Given the description of an element on the screen output the (x, y) to click on. 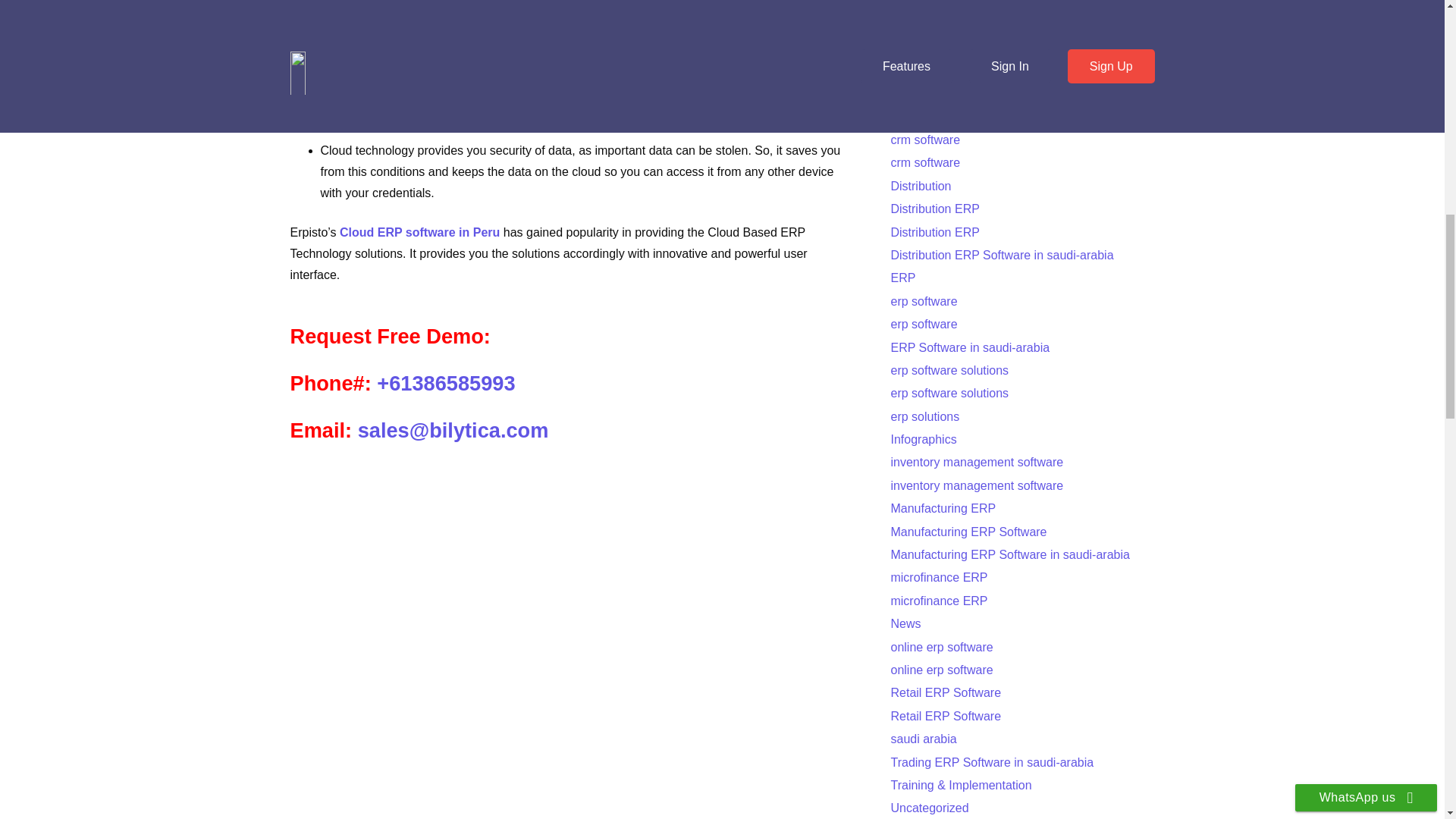
CRM (903, 116)
ERP (902, 277)
Cloud ERP software in Peru (419, 232)
erp software (922, 323)
cloud erp software (939, 70)
cloud accounting software (959, 47)
cloud erp software (939, 92)
cloud accounting software (959, 24)
Cloud Accounting Software in Peru (481, 123)
erp software (922, 300)
